Given the description of an element on the screen output the (x, y) to click on. 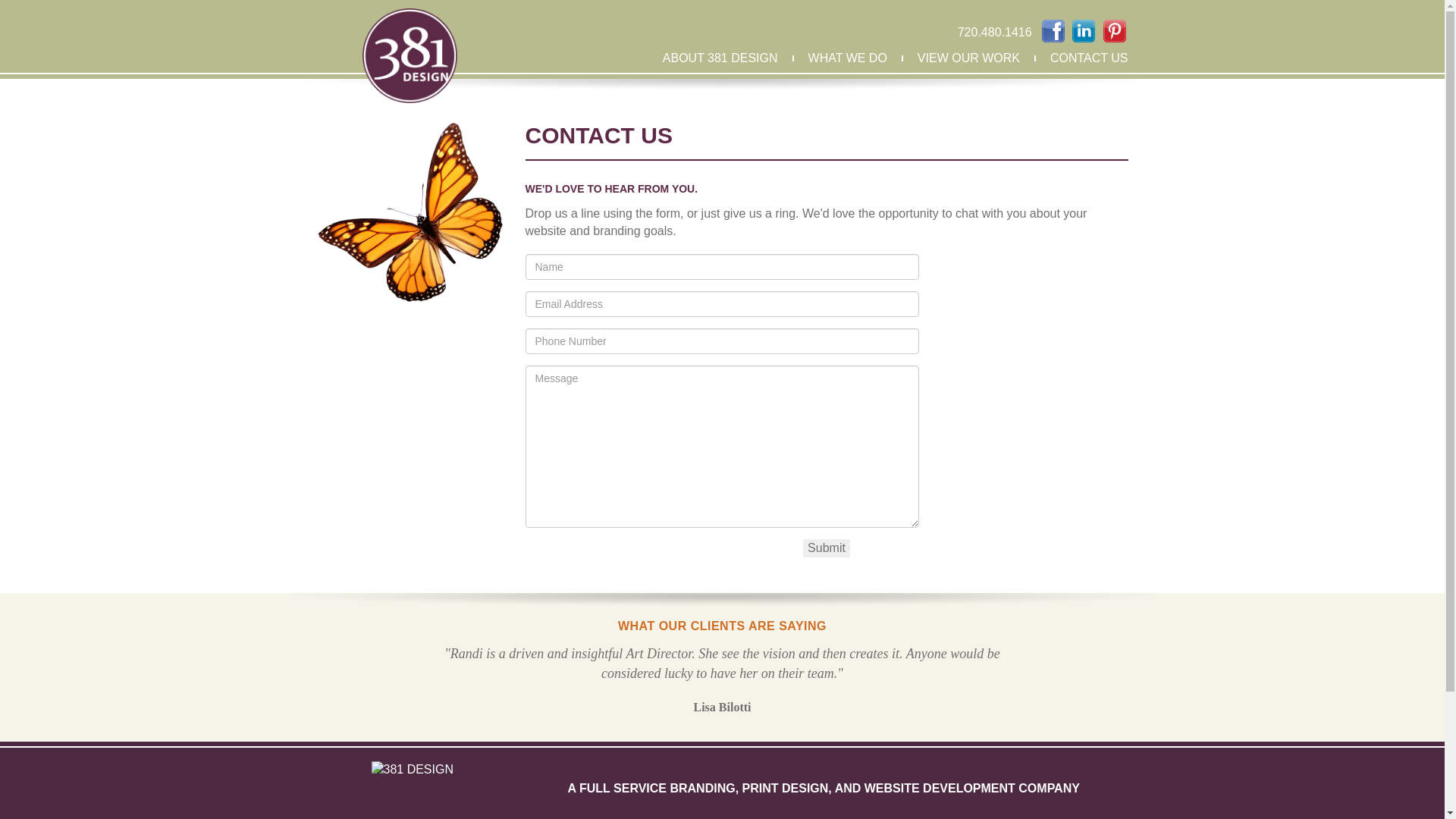
720.480.1416 Element type: text (994, 31)
ABOUT 381 DESIGN Element type: text (720, 58)
CONTACT US Element type: text (1089, 58)
WHAT WE DO Element type: text (847, 58)
VIEW OUR WORK Element type: text (968, 58)
Submit Element type: text (826, 548)
